Given the description of an element on the screen output the (x, y) to click on. 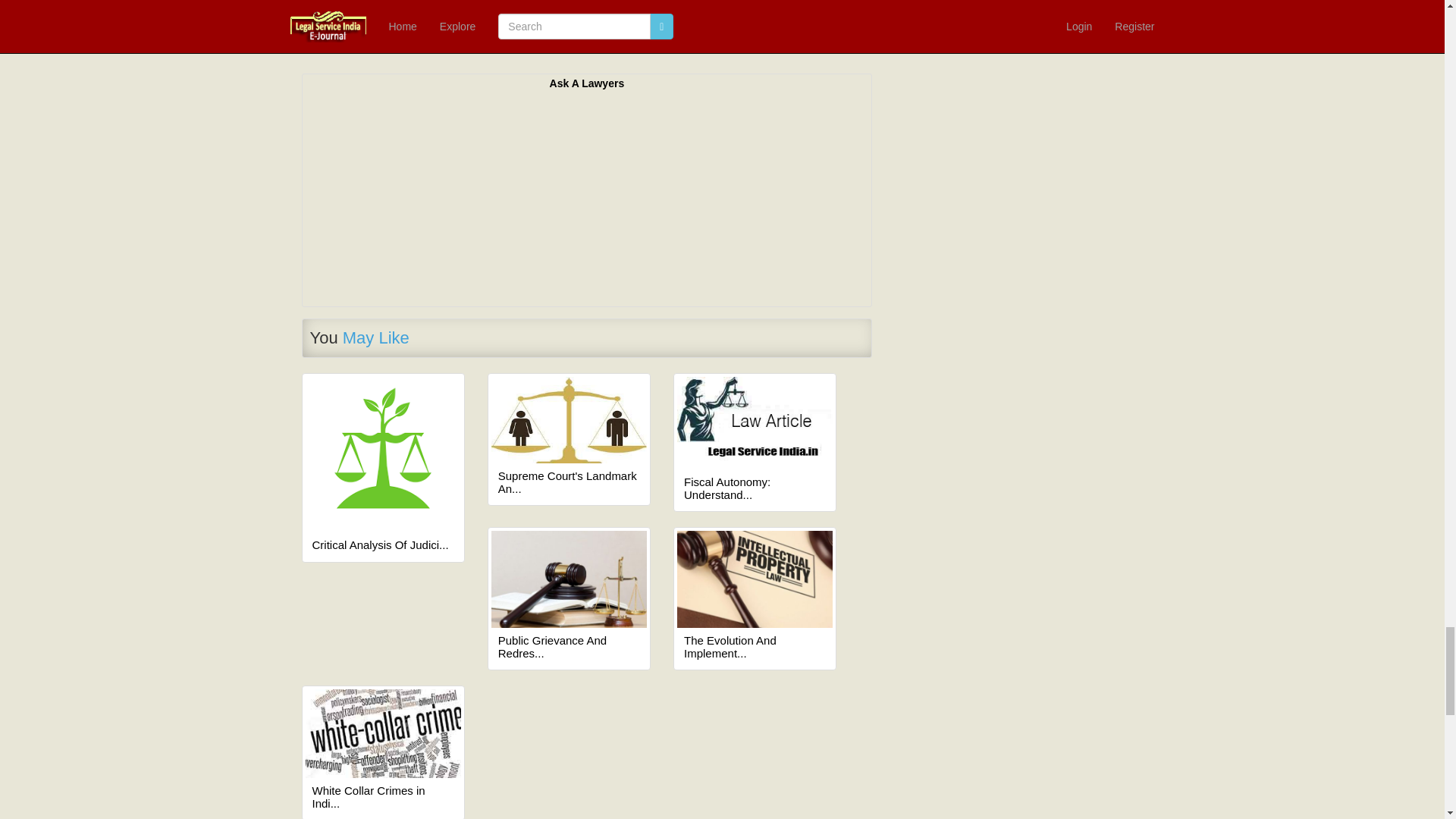
Fiscal Autonomy: Understand... (754, 488)
White Collar Crimes in Indi... (383, 796)
Critical Analysis Of Judici... (383, 545)
The Evolution And Implement... (754, 647)
Supreme Court's Landmark An... (568, 482)
Ask A Lawyers (587, 82)
Public Grievance And Redres... (568, 647)
